Given the description of an element on the screen output the (x, y) to click on. 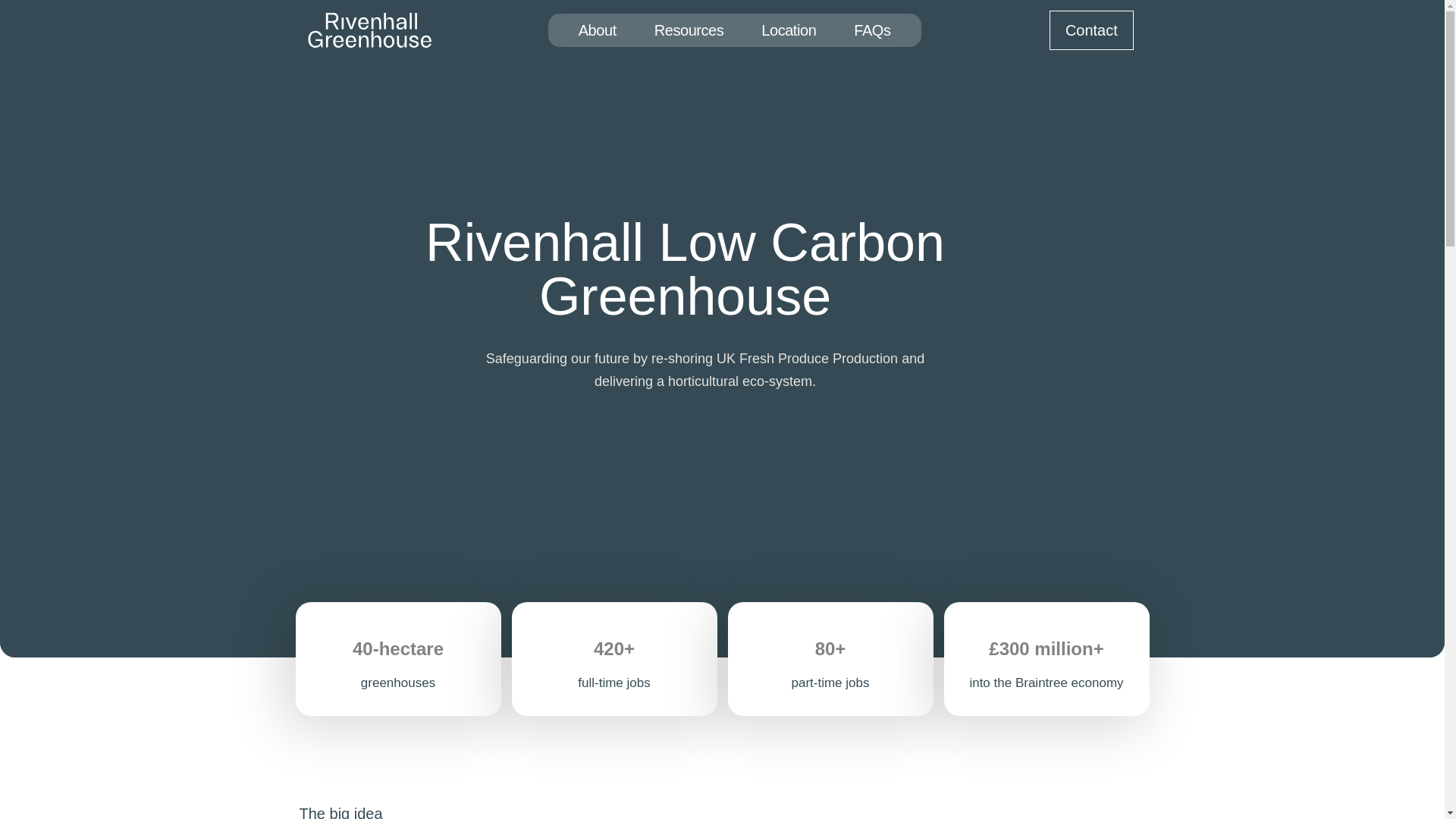
FAQs (871, 29)
Resources (688, 29)
Location (788, 29)
About (596, 29)
Contact (1091, 29)
